Given the description of an element on the screen output the (x, y) to click on. 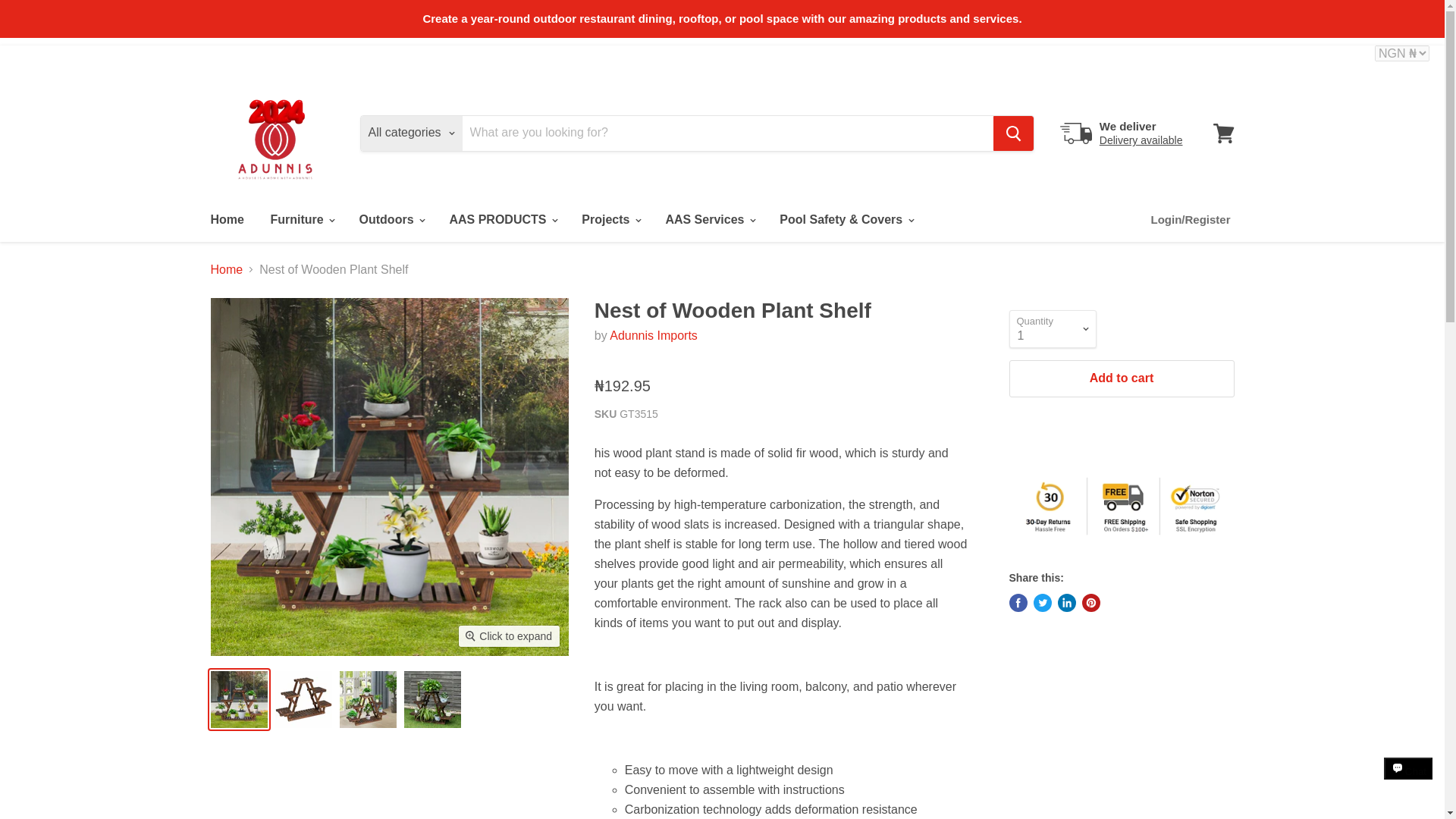
Delivery available (1140, 140)
Adunnis Imports (653, 335)
Shopify online store chat (1408, 781)
Home (226, 219)
Furniture (301, 219)
View cart (1223, 132)
Outdoors (390, 219)
